Given the description of an element on the screen output the (x, y) to click on. 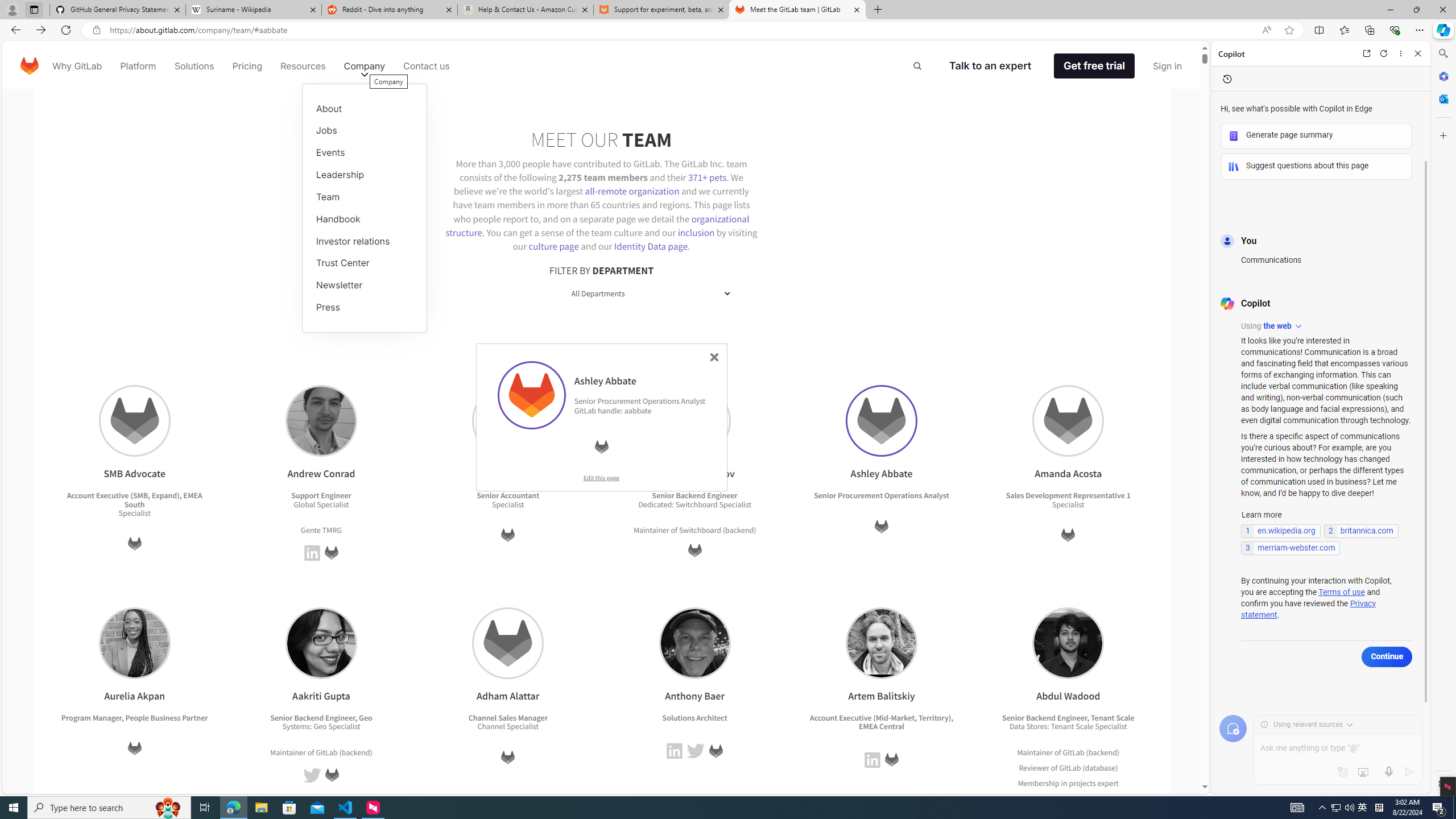
expert (1105, 797)
GitLab (890, 759)
Reddit - Dive into anything (390, 9)
Solutions (193, 65)
Company (364, 65)
371+ pets (706, 176)
Amanda Acosta (1068, 420)
Platform (138, 65)
GitHub General Privacy Statement - GitHub Docs (117, 9)
